Given the description of an element on the screen output the (x, y) to click on. 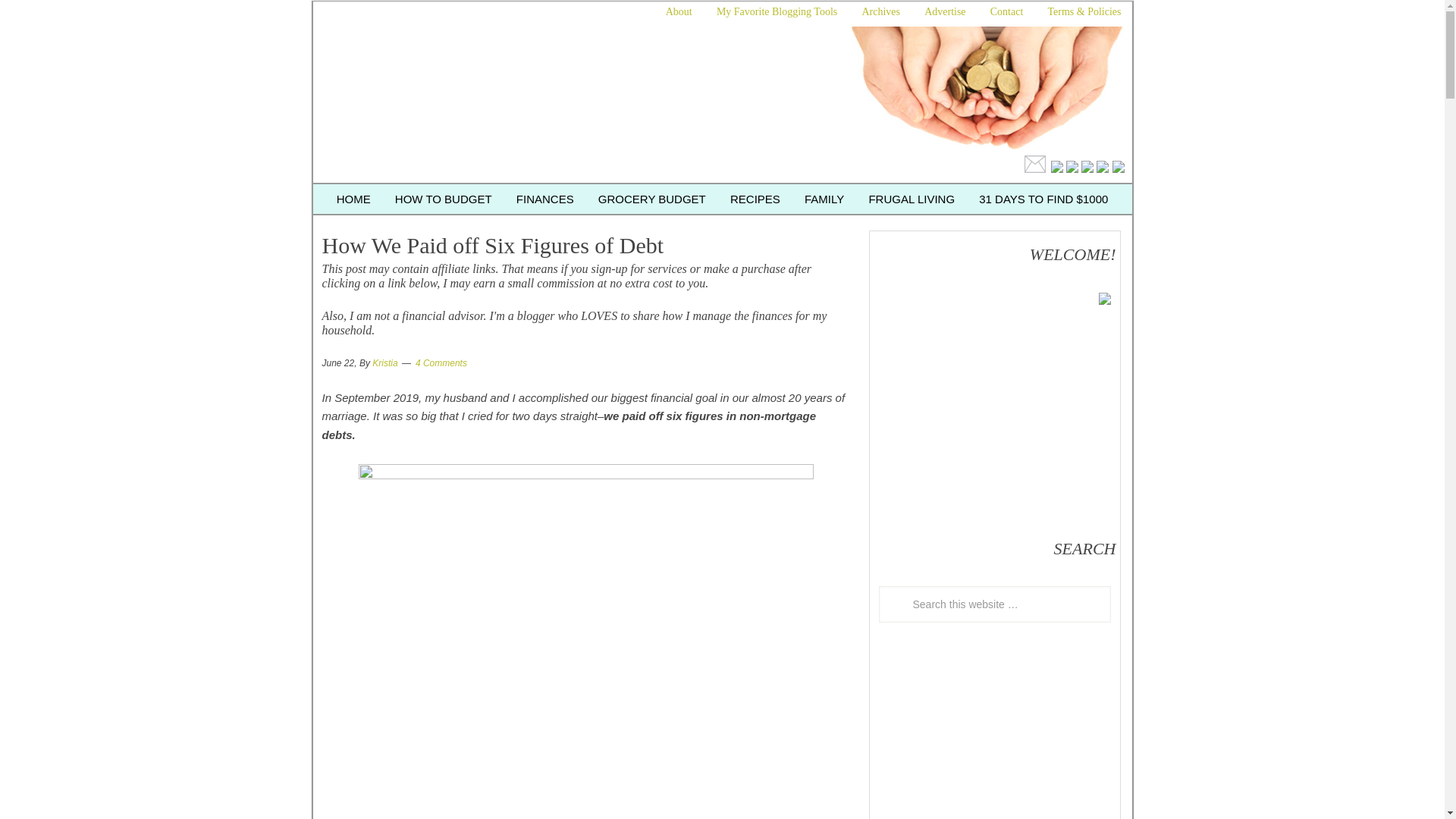
Advertise (944, 11)
HOW TO BUDGET (443, 198)
HOME (353, 198)
GROCERY BUDGET (652, 198)
Contact (1006, 11)
About (679, 11)
FINANCES (545, 198)
Family Balance Sheet (578, 97)
My Favorite Blogging Tools (776, 11)
RECIPES (754, 198)
FAMILY (823, 198)
Archives (880, 11)
